Given the description of an element on the screen output the (x, y) to click on. 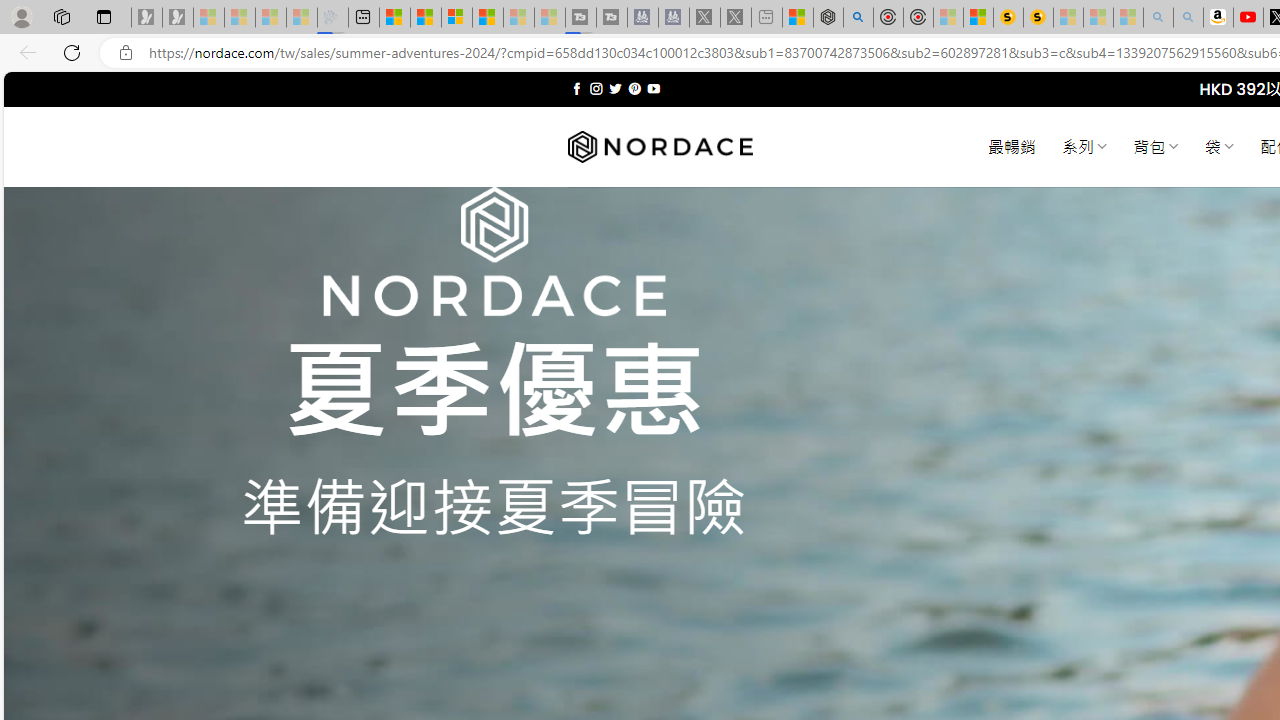
Overview (456, 17)
